Given the description of an element on the screen output the (x, y) to click on. 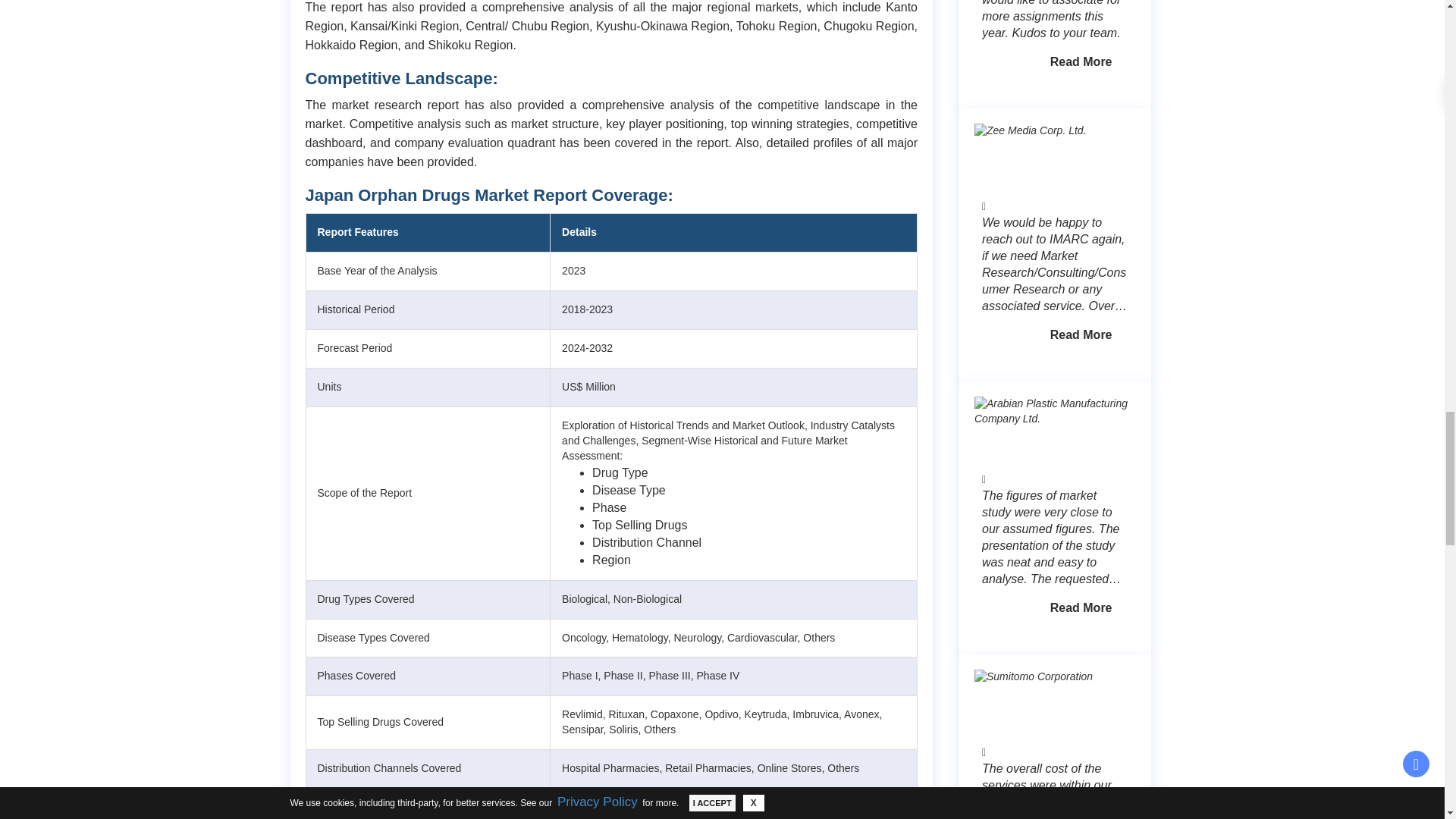
Know more (1081, 607)
Know more (1081, 61)
Know more (1081, 334)
